Given the description of an element on the screen output the (x, y) to click on. 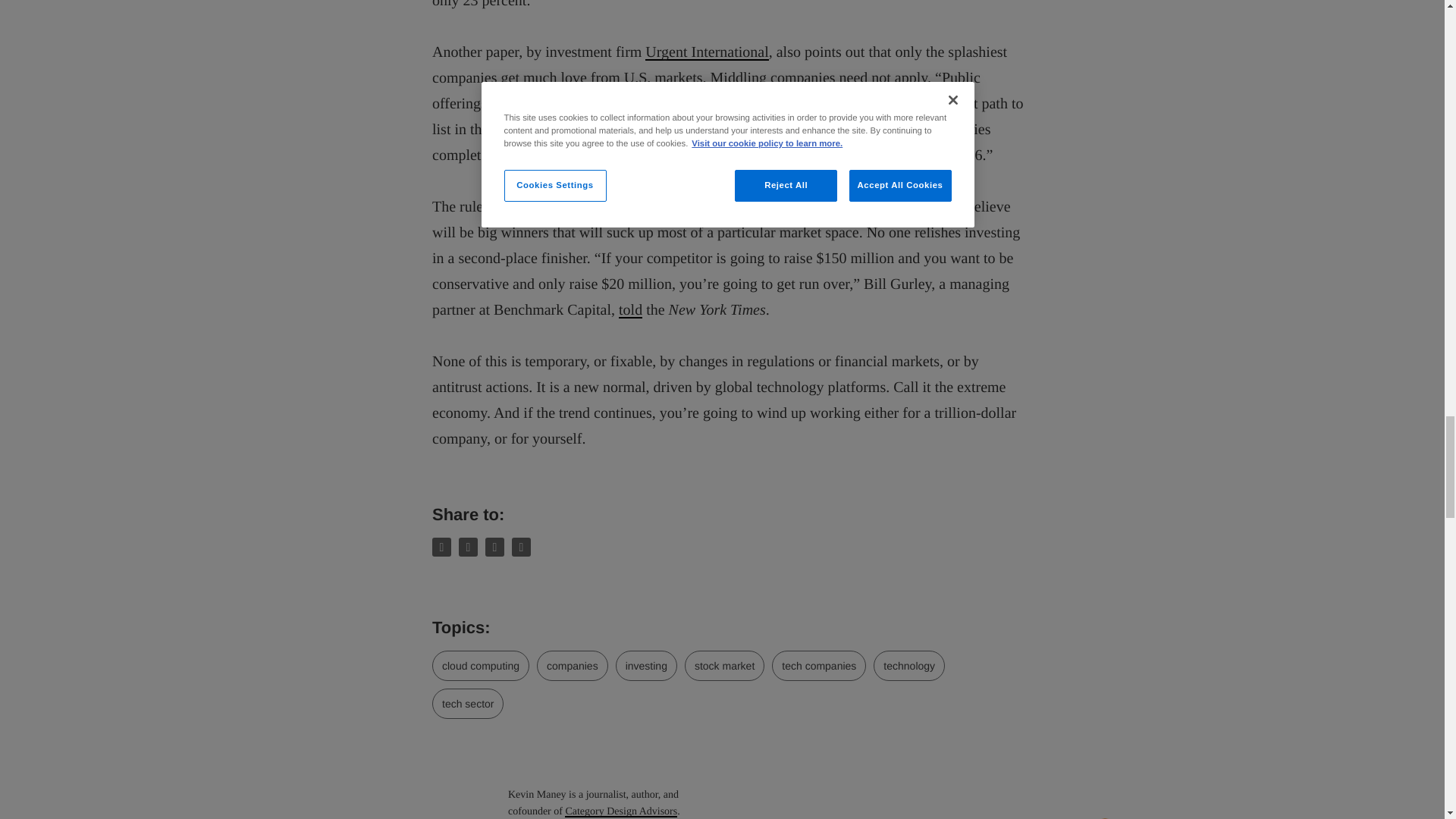
Kevin Maney (462, 803)
